Given the description of an element on the screen output the (x, y) to click on. 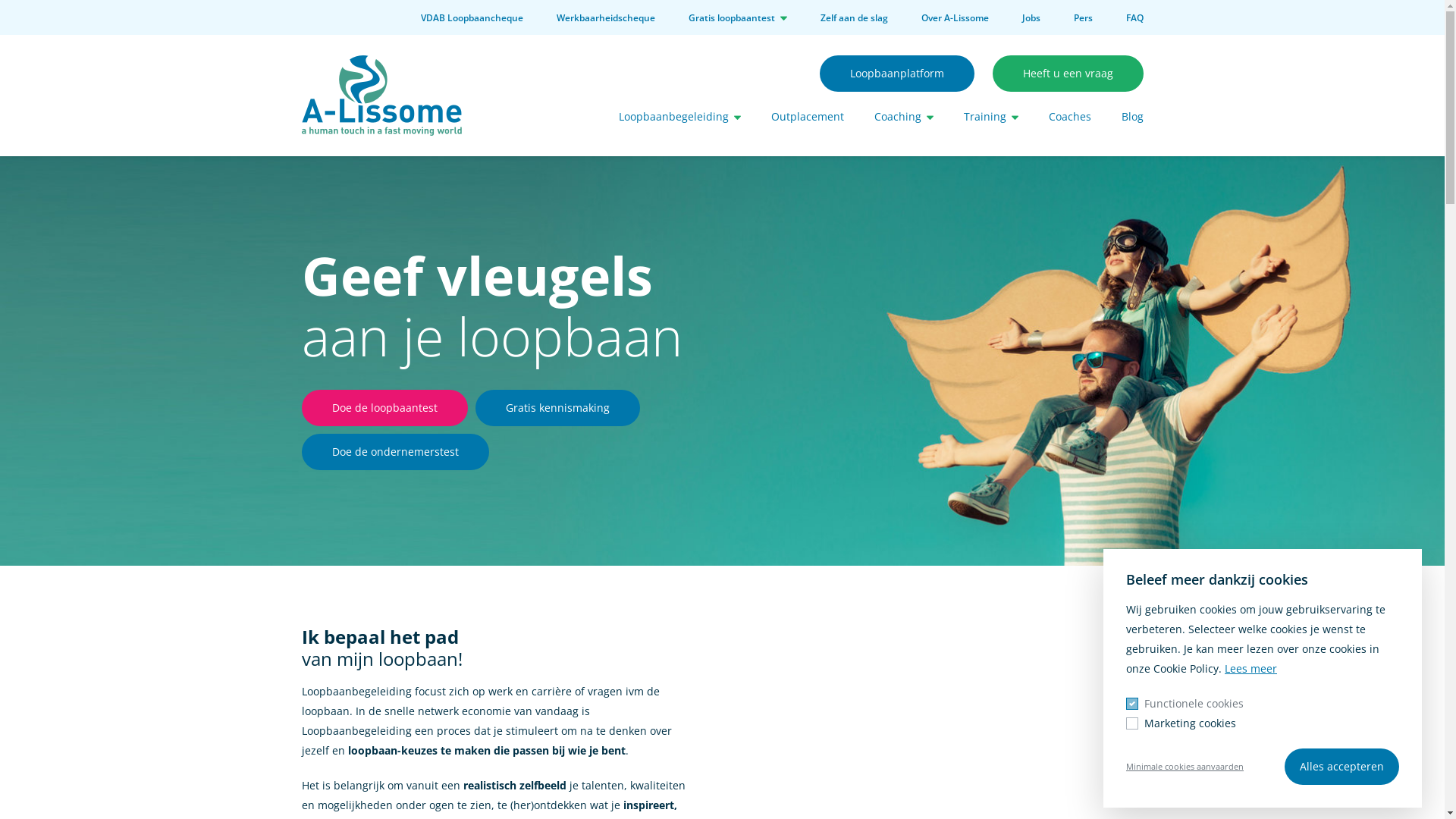
Training Element type: text (990, 116)
Werkbaarheidscheque Element type: text (605, 17)
Pers Element type: text (1082, 17)
VDAB Loopbaancheque Element type: text (471, 17)
Minimale cookies aanvaarden Element type: text (1184, 767)
Blog Element type: text (1131, 116)
Doe de ondernemerstest Element type: text (395, 451)
FAQ Element type: text (1133, 17)
Gratis kennismaking Element type: text (556, 407)
Jobs Element type: text (1031, 17)
Loopbaanplatform Element type: text (896, 73)
Heeft u een vraag Element type: text (1066, 73)
Lees meer Element type: text (1250, 668)
Alles accepteren Element type: text (1341, 766)
Over A-Lissome Element type: text (954, 17)
Zelf aan de slag Element type: text (854, 17)
Coaching Element type: text (902, 116)
Loopbaanbegeleiding Element type: text (679, 116)
Outplacement Element type: text (806, 116)
Coaches Element type: text (1069, 116)
Doe de loopbaantest Element type: text (384, 407)
